Given the description of an element on the screen output the (x, y) to click on. 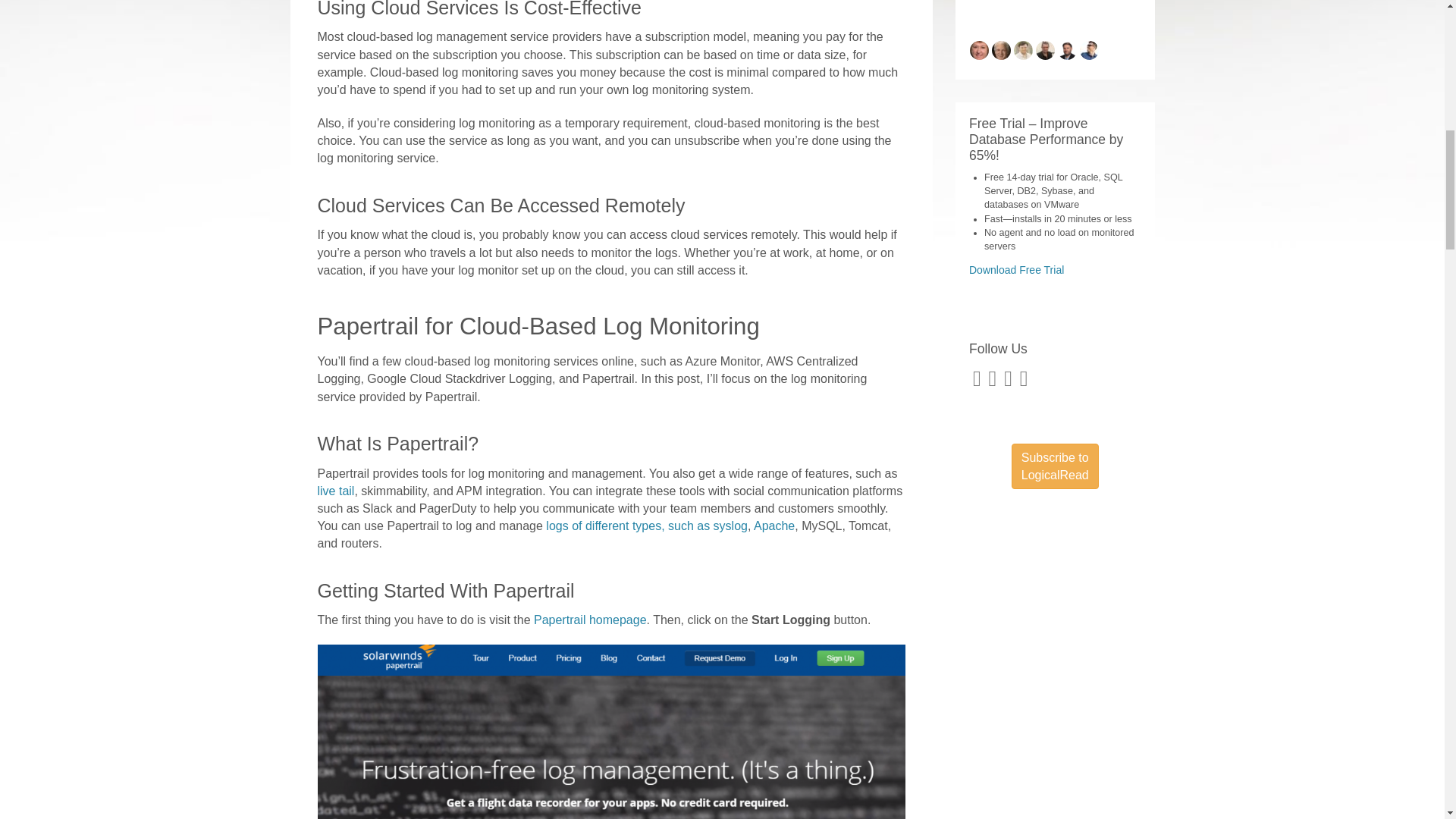
live tail (335, 490)
Apache (774, 525)
logs of different types, such as syslog (647, 525)
Papertrail homepage (590, 619)
